Given the description of an element on the screen output the (x, y) to click on. 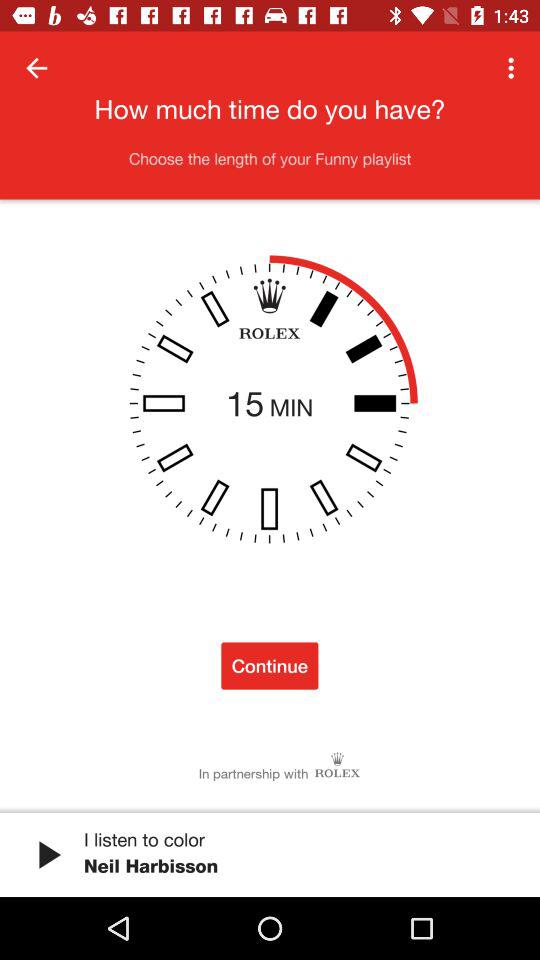
open item above choose the length icon (36, 68)
